Given the description of an element on the screen output the (x, y) to click on. 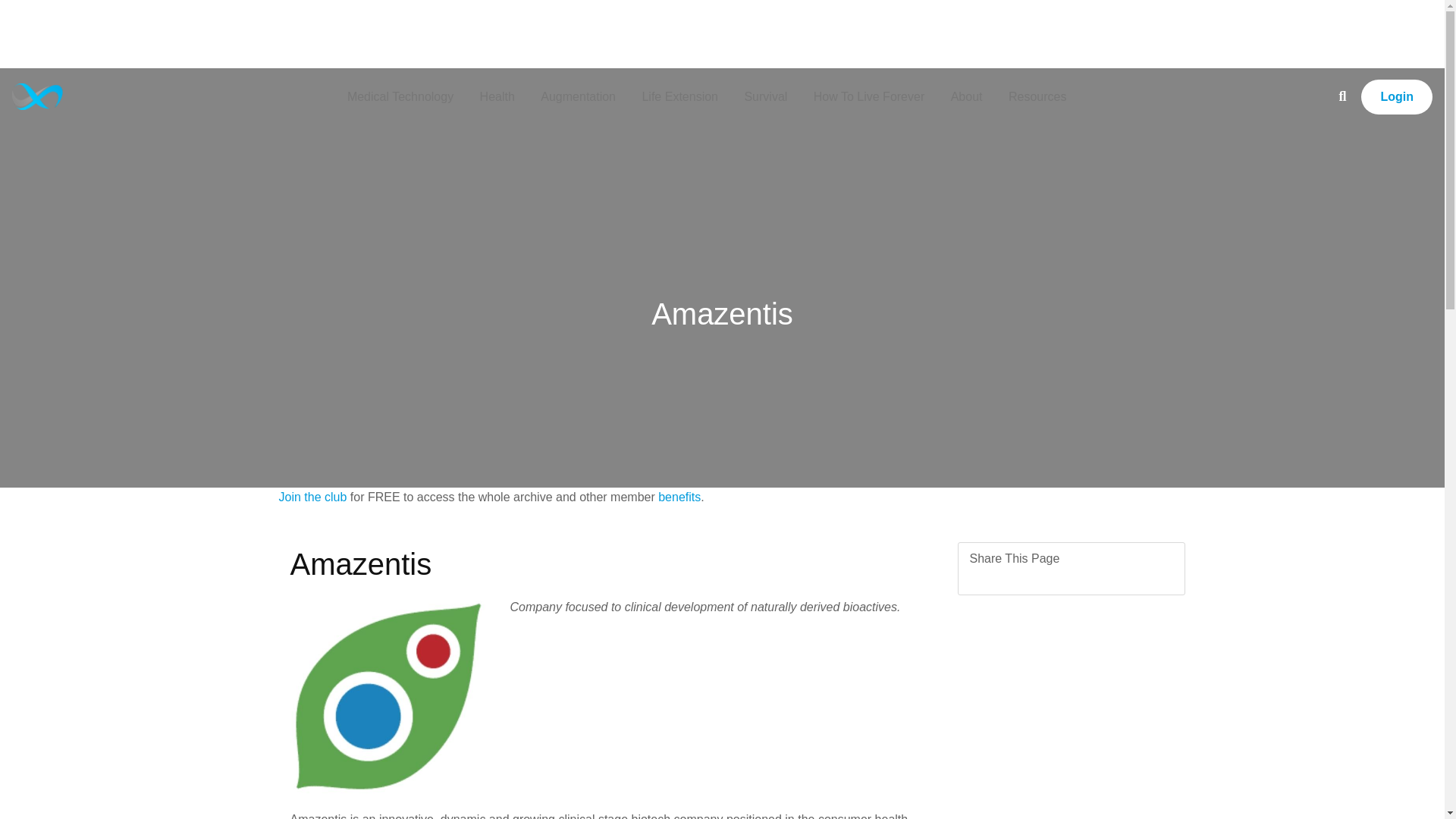
Medical Technology (400, 95)
Augmentation (578, 95)
Click for home page (36, 96)
Life Extension (679, 95)
Health (496, 95)
